Given the description of an element on the screen output the (x, y) to click on. 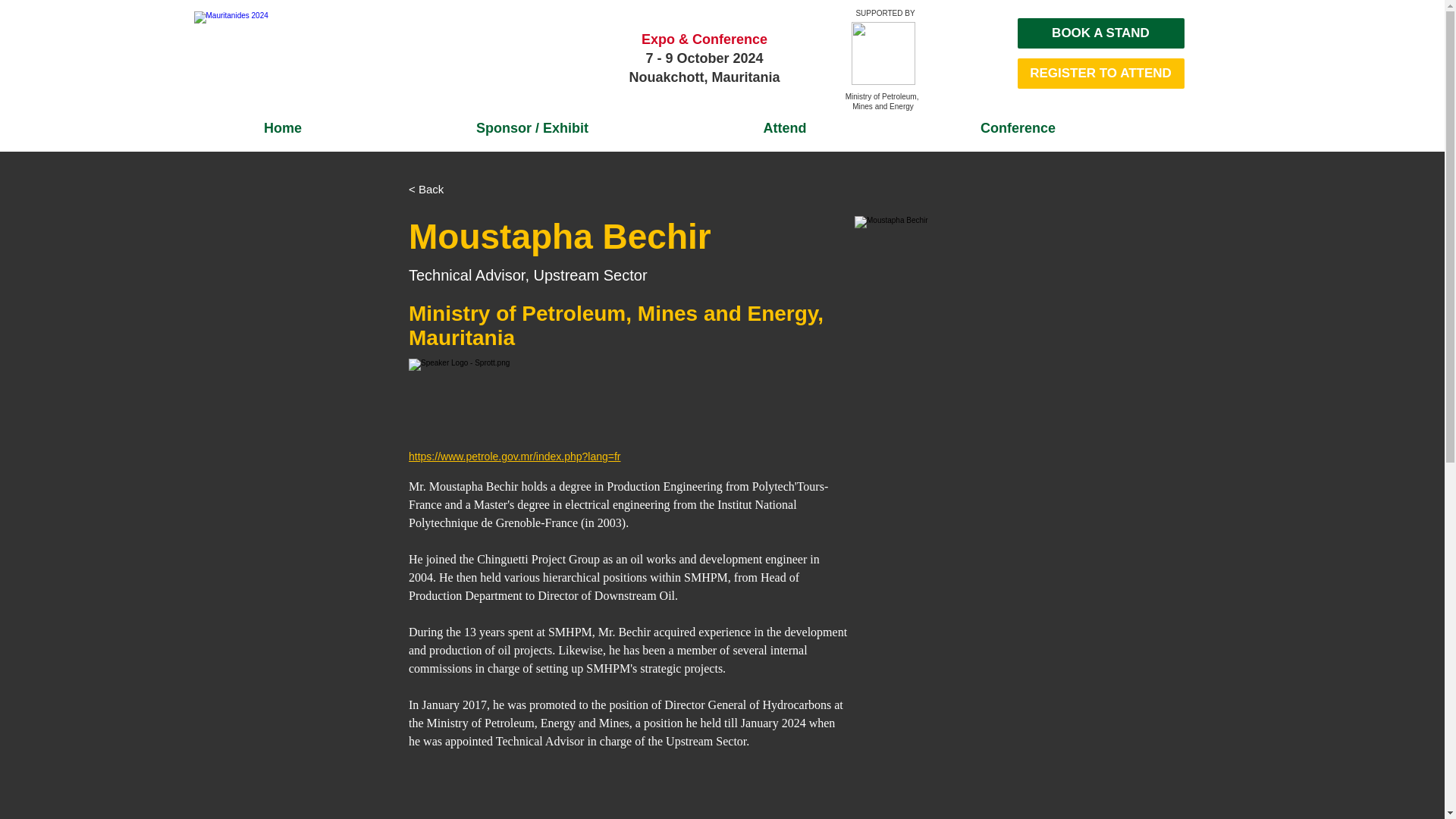
REGISTER TO ATTEND (1101, 73)
BOOK A STAND (1101, 33)
Attend (785, 127)
Home (282, 127)
Conference (1017, 127)
